Given the description of an element on the screen output the (x, y) to click on. 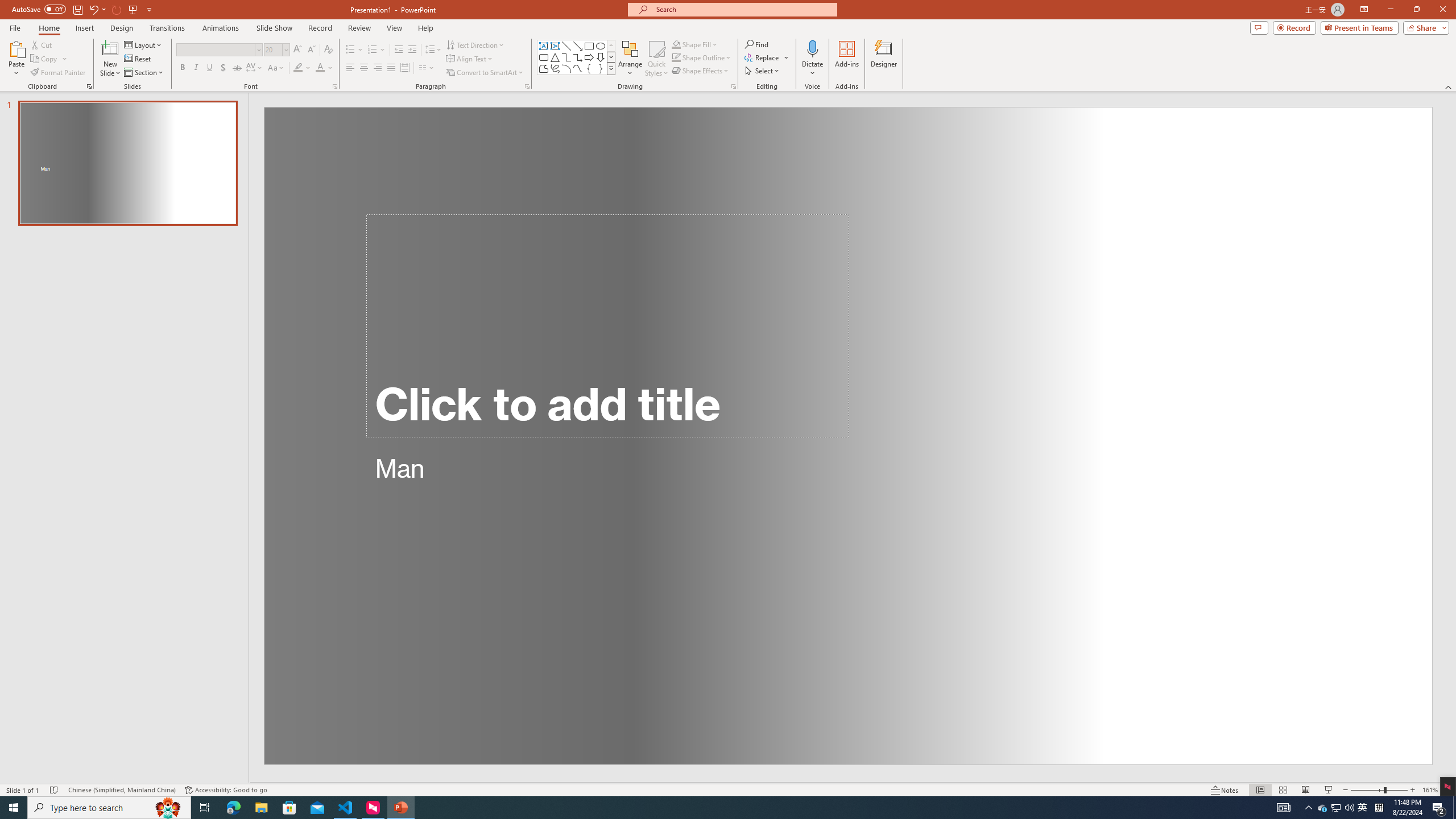
Font Color Red (320, 67)
Strikethrough (237, 67)
Notes  (1225, 790)
Row Down (611, 56)
Font Size (273, 49)
Quick Styles (656, 58)
Bullets (354, 49)
Design (122, 28)
Italic (195, 67)
Copy (49, 58)
Class: MsoCommandBar (728, 789)
Bold (182, 67)
Font Color (324, 67)
Transitions (167, 28)
Record (1294, 27)
